Given the description of an element on the screen output the (x, y) to click on. 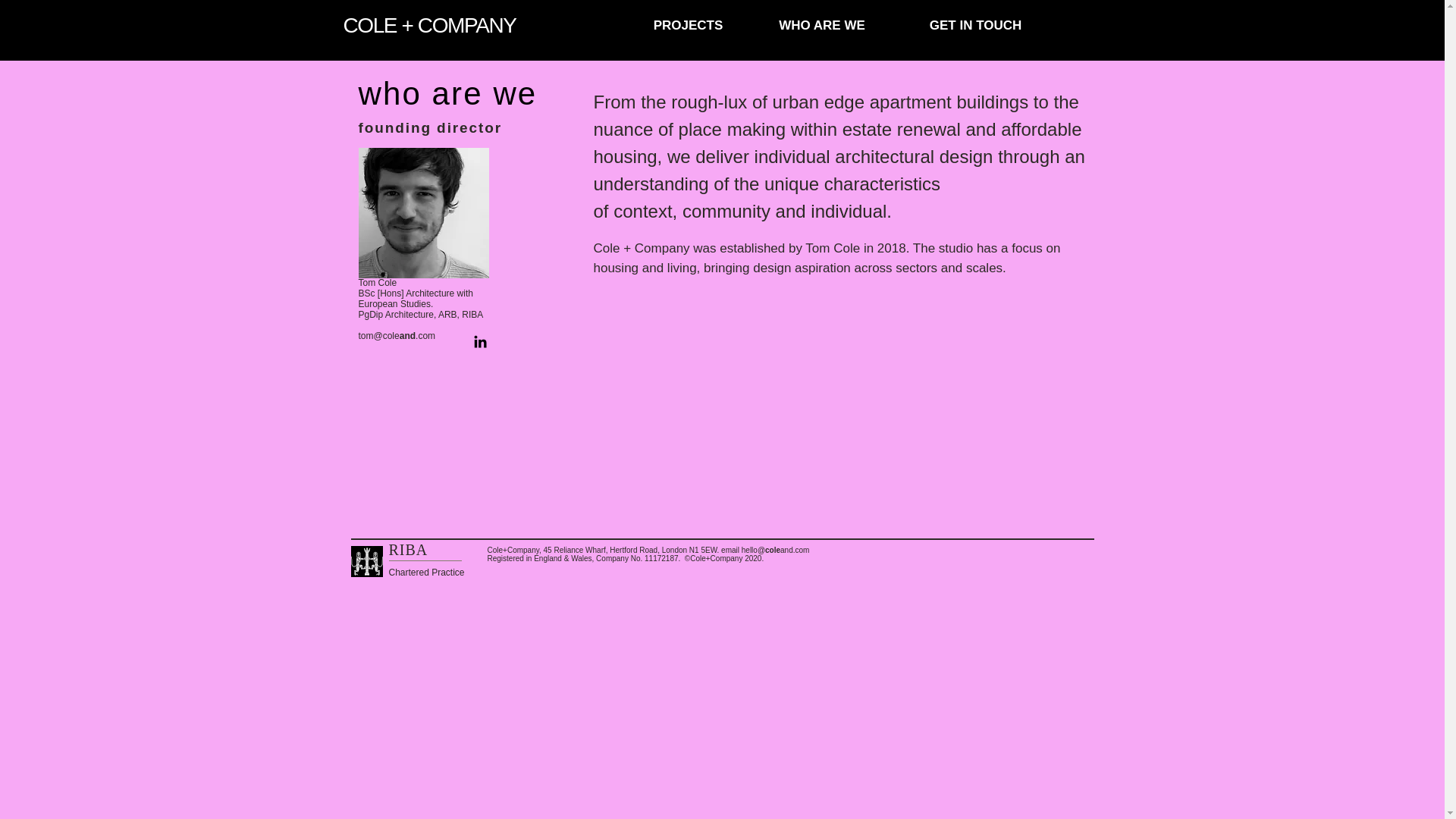
WHO ARE WE (822, 25)
PROJECTS (688, 25)
GET IN TOUCH (975, 25)
tom cole.jpg (422, 213)
RIBA Crest.jpg (365, 561)
